Given the description of an element on the screen output the (x, y) to click on. 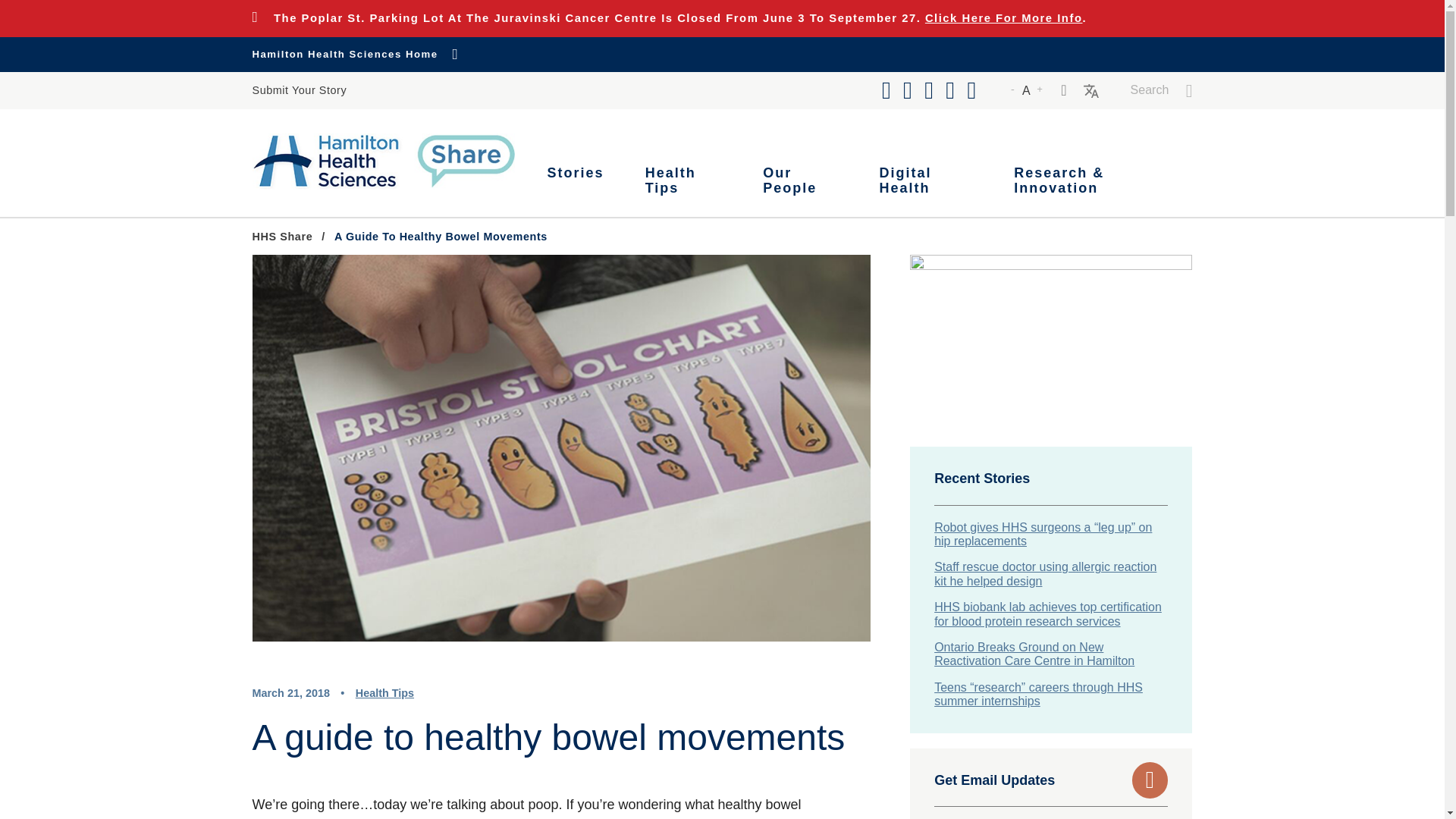
Stories (575, 180)
Search (1161, 90)
HHS Share (282, 236)
- (1011, 90)
Our People (800, 180)
Hamilton Health Sciences Home (354, 54)
Digital Health (926, 180)
Submit Your Story (298, 90)
Health Tips (683, 180)
Click Here For More Info (1003, 17)
